Given the description of an element on the screen output the (x, y) to click on. 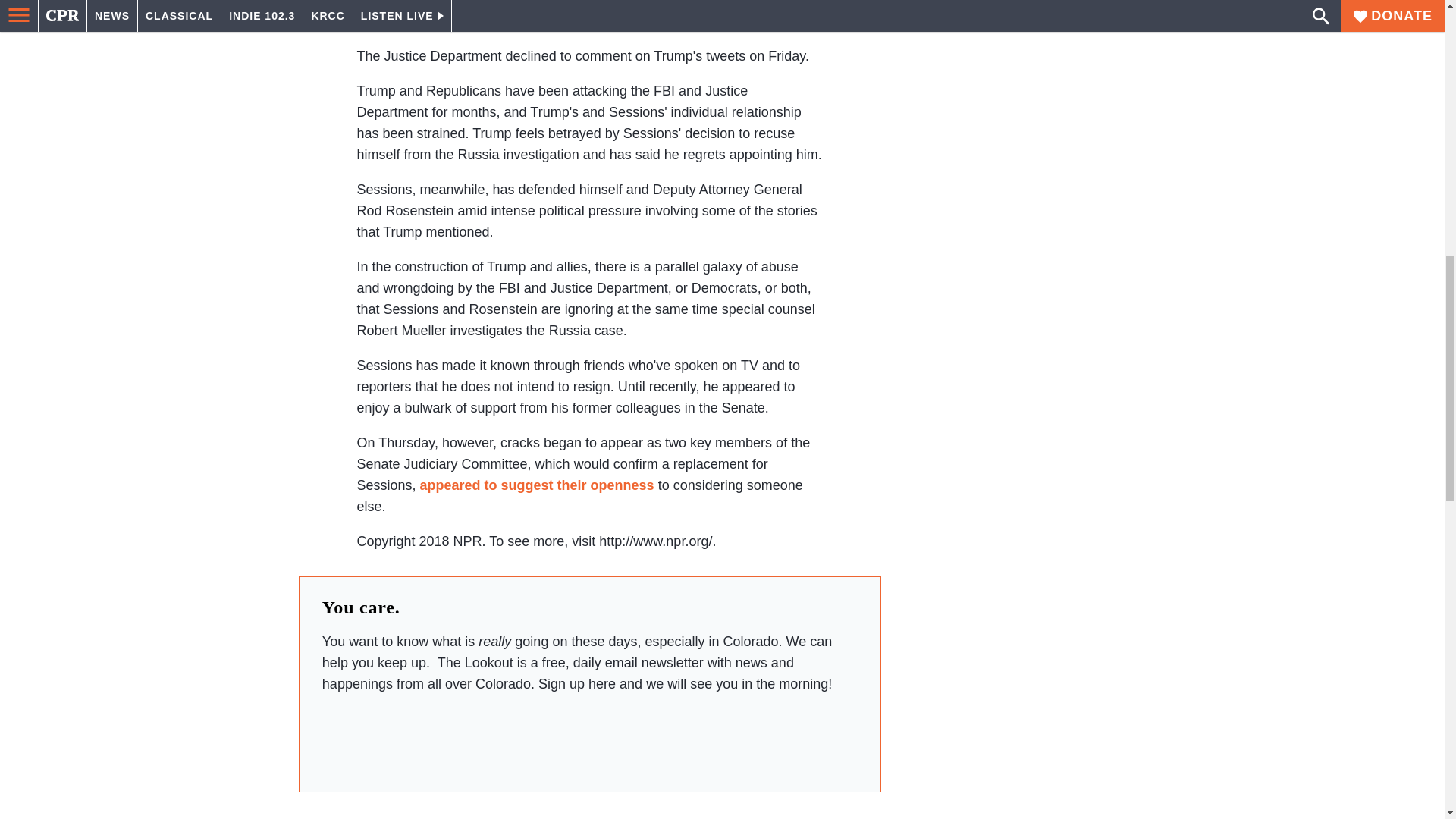
newsArticleSignup (589, 736)
